Given the description of an element on the screen output the (x, y) to click on. 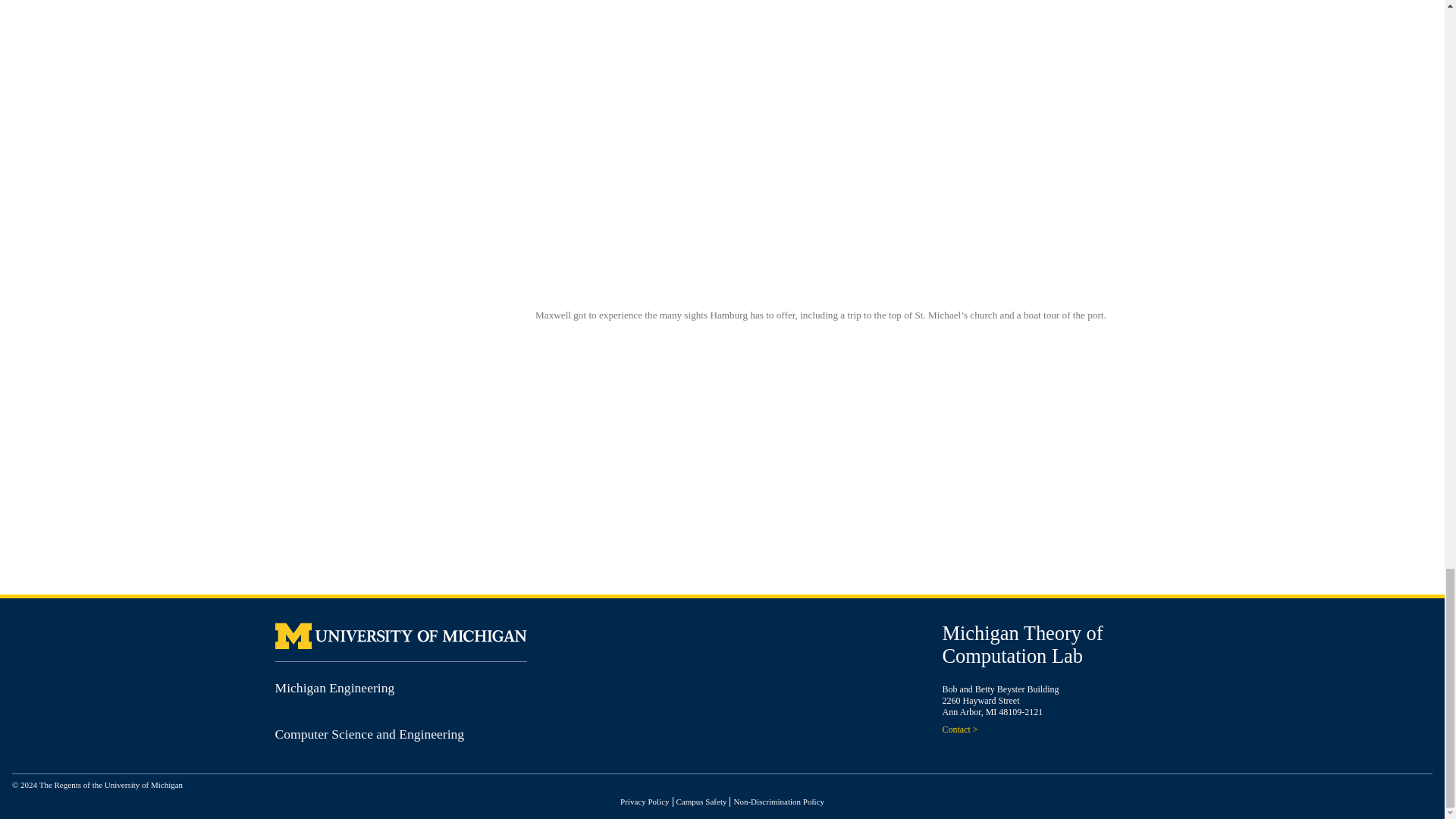
Campus Safety (701, 800)
The Regents of the University of Michigan (111, 784)
Non-Discrimination Policy (778, 800)
Privacy Policy (644, 800)
Computer Science and Engineering (369, 734)
Michigan Engineering (334, 687)
Michigan Theory of Computation Lab (1022, 644)
